Given the description of an element on the screen output the (x, y) to click on. 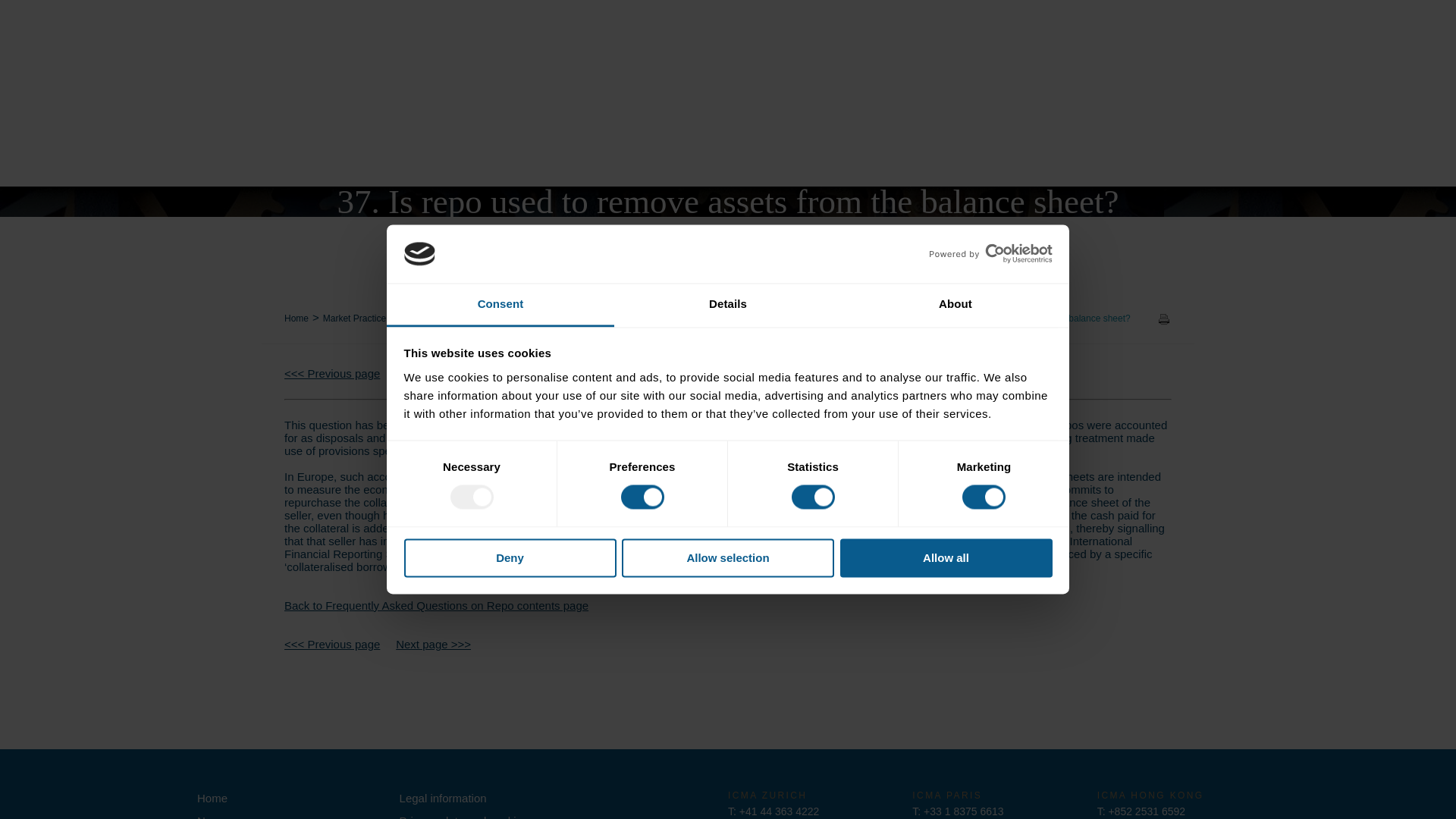
Details (727, 304)
About (954, 304)
Consent (500, 304)
